Given the description of an element on the screen output the (x, y) to click on. 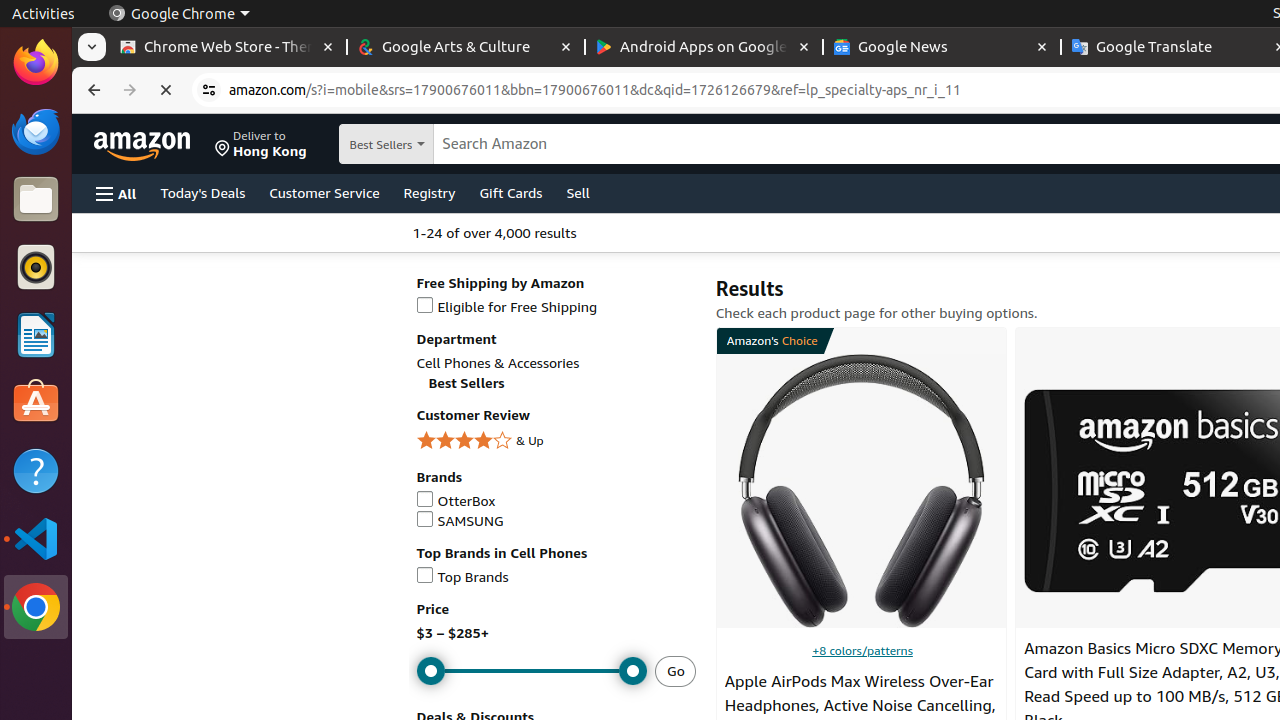
Amazon Element type: link (144, 144)
SAMSUNG Element type: list-item (556, 521)
Google Chrome Element type: push-button (36, 607)
Top Brands Element type: list-item (556, 577)
Thunderbird Mail Element type: push-button (36, 131)
